Given the description of an element on the screen output the (x, y) to click on. 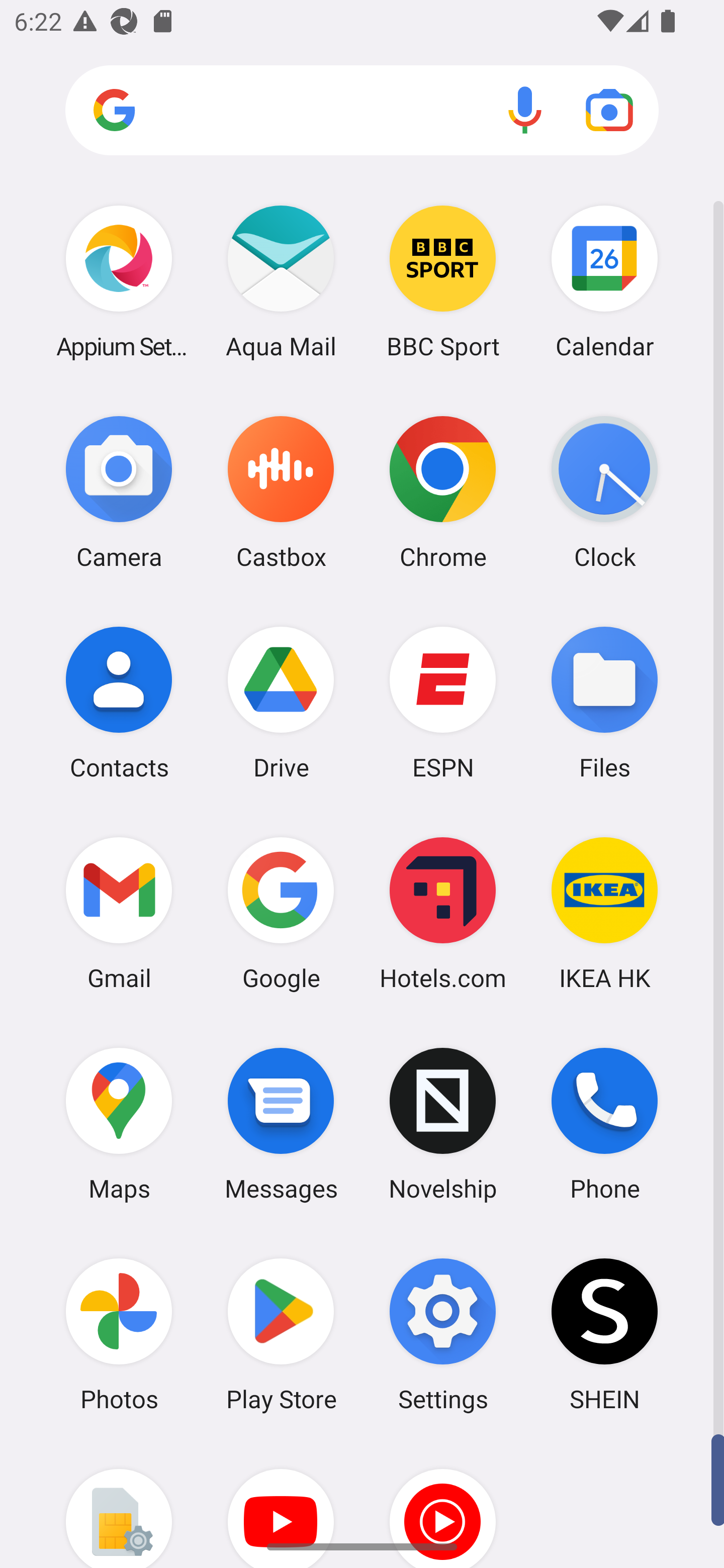
Search apps, web and more (361, 110)
Voice search (524, 109)
Google Lens (608, 109)
Appium Settings (118, 281)
Aqua Mail (280, 281)
BBC Sport (443, 281)
Calendar (604, 281)
Camera (118, 492)
Castbox (280, 492)
Chrome (443, 492)
Clock (604, 492)
Contacts (118, 702)
Drive (280, 702)
ESPN (443, 702)
Files (604, 702)
Gmail (118, 913)
Google (280, 913)
Hotels.com (443, 913)
IKEA HK (604, 913)
Maps (118, 1124)
Messages (280, 1124)
Novelship (443, 1124)
Phone (604, 1124)
Photos (118, 1334)
Play Store (280, 1334)
Settings (443, 1334)
SHEIN (604, 1334)
TMoble (118, 1503)
YouTube (280, 1503)
YT Music (443, 1503)
